Given the description of an element on the screen output the (x, y) to click on. 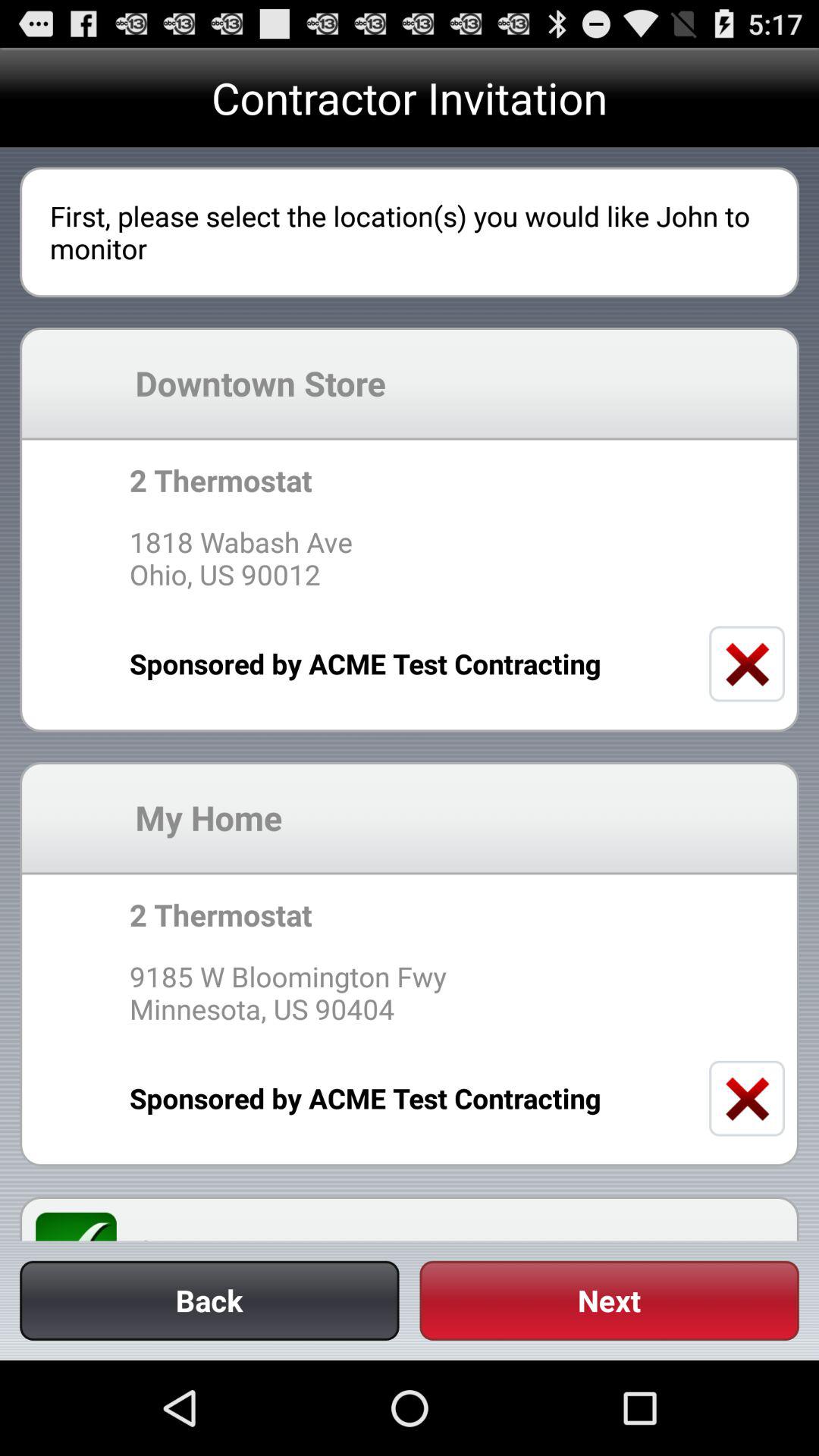
select 9185 w bloomington item (409, 992)
